Given the description of an element on the screen output the (x, y) to click on. 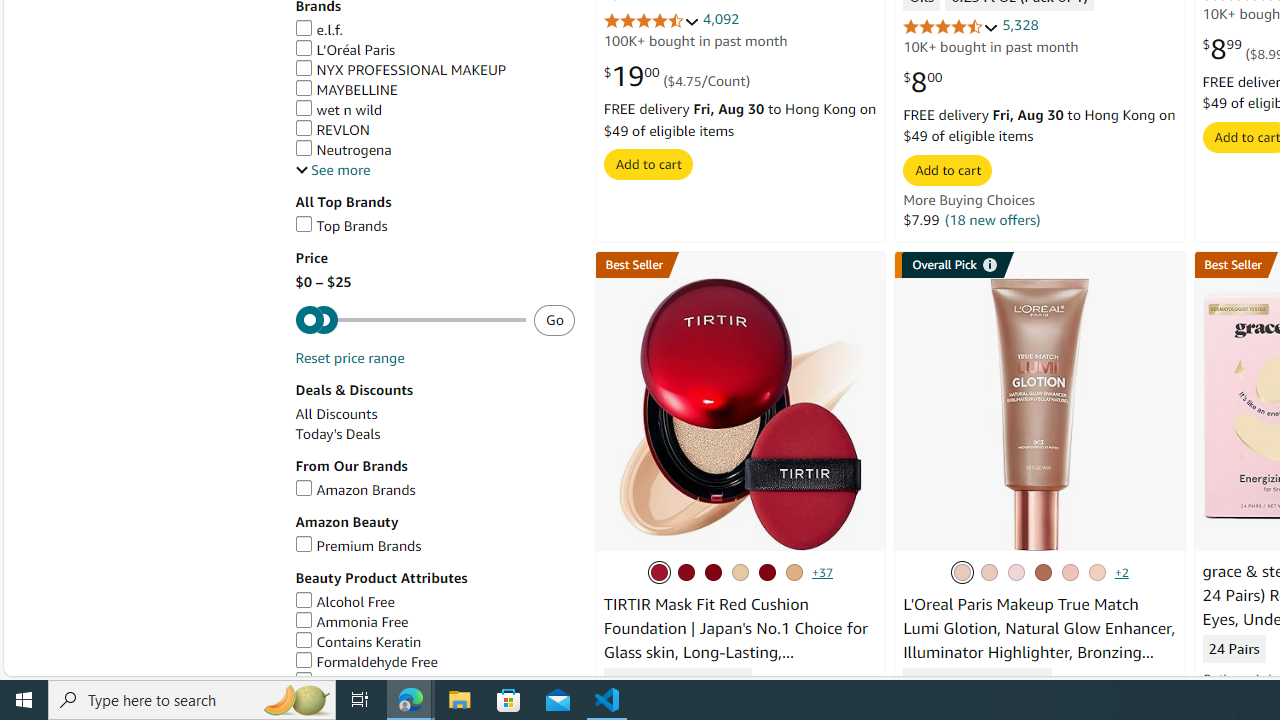
24N Latte (793, 572)
Formaldehyde Free (365, 661)
Amazon Brands (355, 489)
21C Cool Ivory (659, 572)
23N Sand (766, 572)
Premium Brands (434, 546)
Contains Keratin (434, 642)
NYX PROFESSIONAL MAKEUP (400, 69)
All Discounts (335, 414)
MAYBELLINE (434, 90)
Top Brands (340, 226)
Maximum (410, 320)
Go back to filtering menu (84, 666)
Top Brands (434, 226)
